Given the description of an element on the screen output the (x, y) to click on. 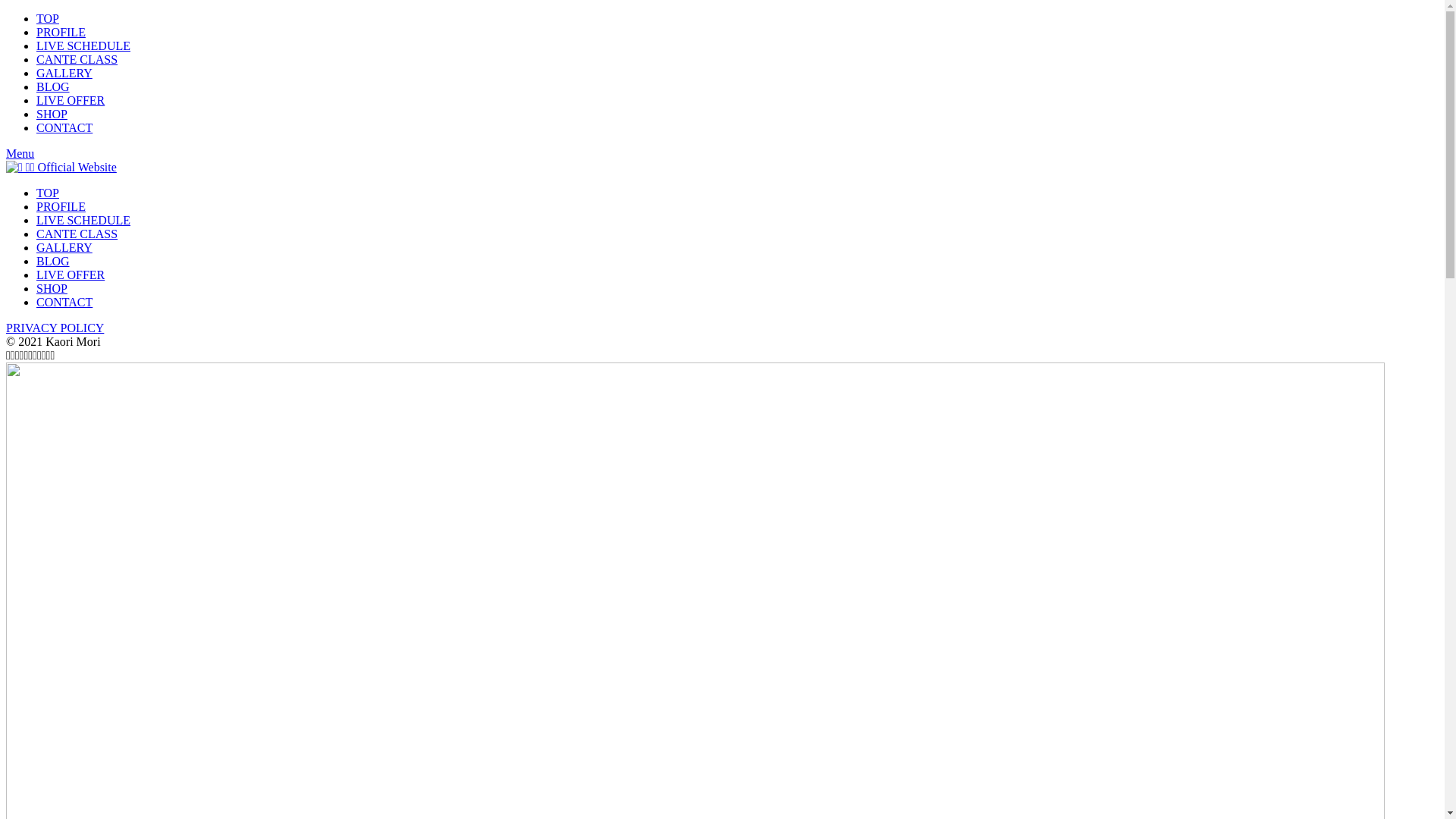
GALLERY Element type: text (64, 247)
CONTACT Element type: text (64, 301)
LIVE SCHEDULE Element type: text (83, 45)
TOP Element type: text (47, 18)
CONTACT Element type: text (64, 127)
PROFILE Element type: text (60, 31)
BLOG Element type: text (52, 86)
LIVE SCHEDULE Element type: text (83, 219)
SHOP Element type: text (51, 288)
BLOG Element type: text (52, 260)
GALLERY Element type: text (64, 72)
PRIVACY POLICY Element type: text (54, 327)
CANTE CLASS Element type: text (76, 59)
TOP Element type: text (47, 192)
LIVE OFFER Element type: text (70, 100)
PROFILE Element type: text (60, 206)
CANTE CLASS Element type: text (76, 233)
LIVE OFFER Element type: text (70, 274)
Menu Element type: text (20, 153)
SHOP Element type: text (51, 113)
